Given the description of an element on the screen output the (x, y) to click on. 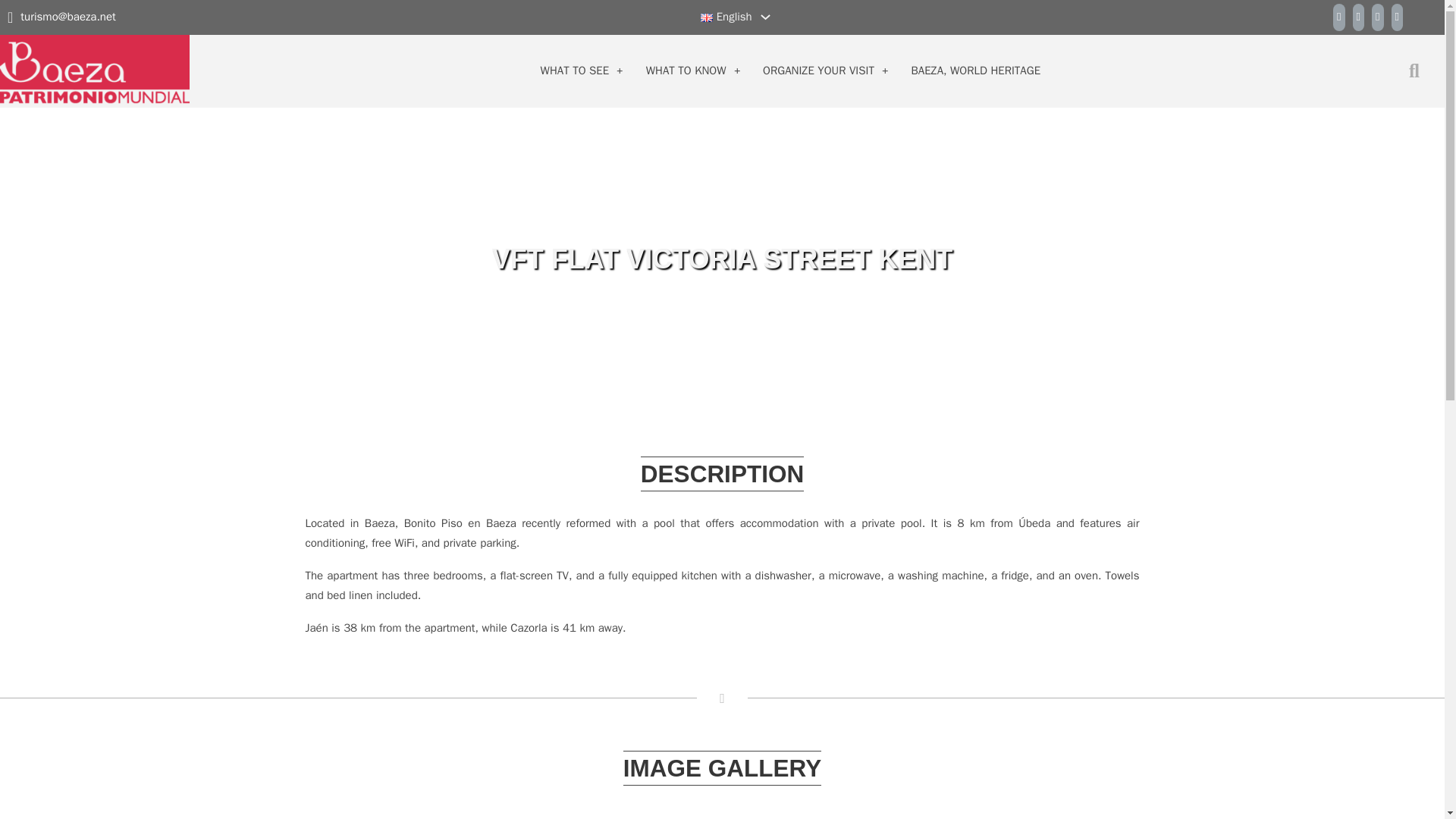
WHAT TO KNOW (686, 71)
ORGANIZE YOUR VISIT (818, 71)
WHAT TO SEE (575, 71)
English (726, 17)
